Given the description of an element on the screen output the (x, y) to click on. 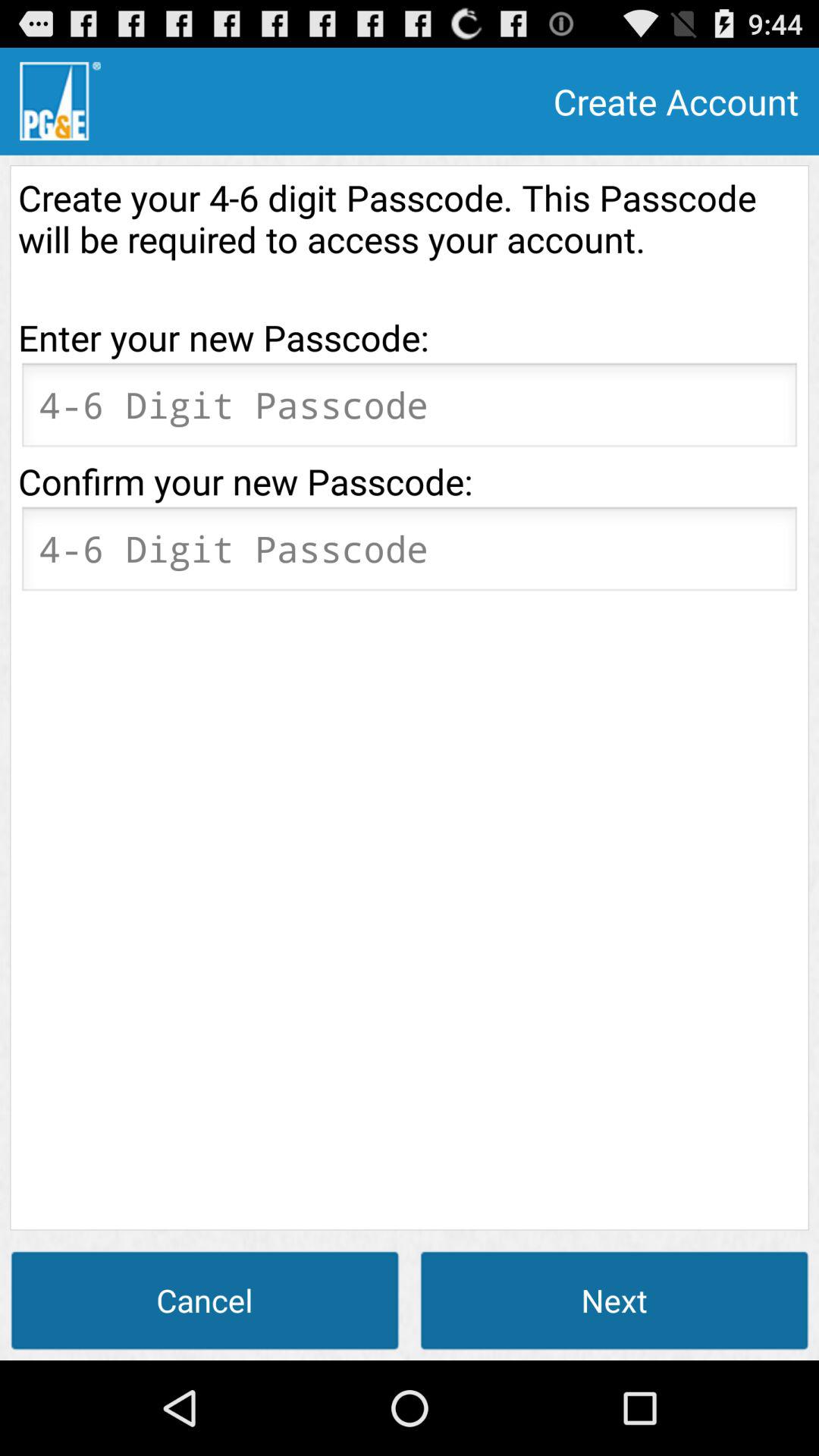
scroll to the next item (613, 1300)
